Given the description of an element on the screen output the (x, y) to click on. 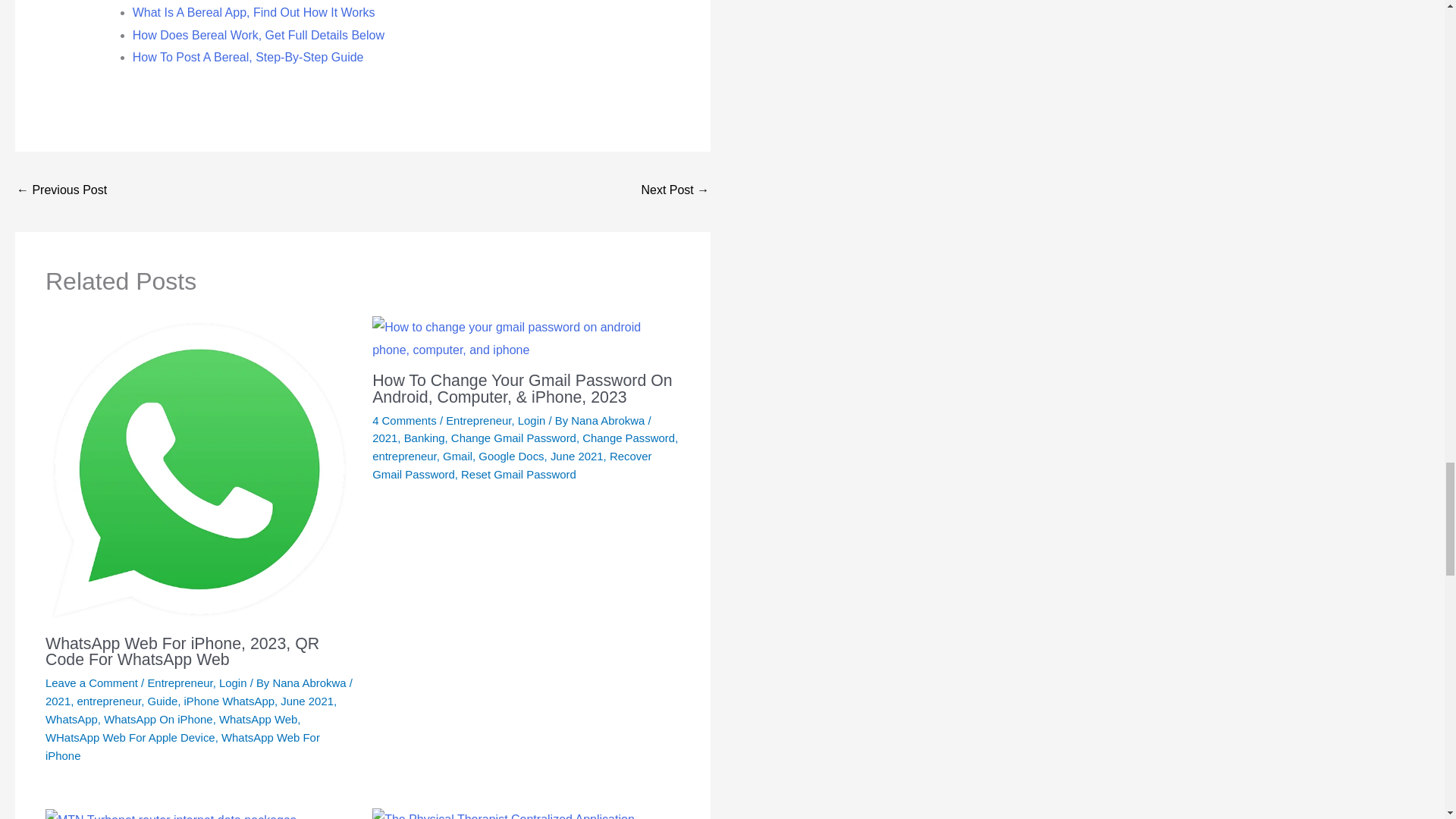
PTCAS Login 2023, Steps To Login To Your PCAS Account (61, 191)
View all posts by Nana Abrokwa (310, 682)
How To Post A Bereal, Step-By-Step Guide (248, 56)
How Does Bereal Work, Get Full Details Below (258, 34)
What Is A Bereal App, Find Out How It Works (253, 11)
View all posts by Nana Abrokwa (608, 420)
